Given the description of an element on the screen output the (x, y) to click on. 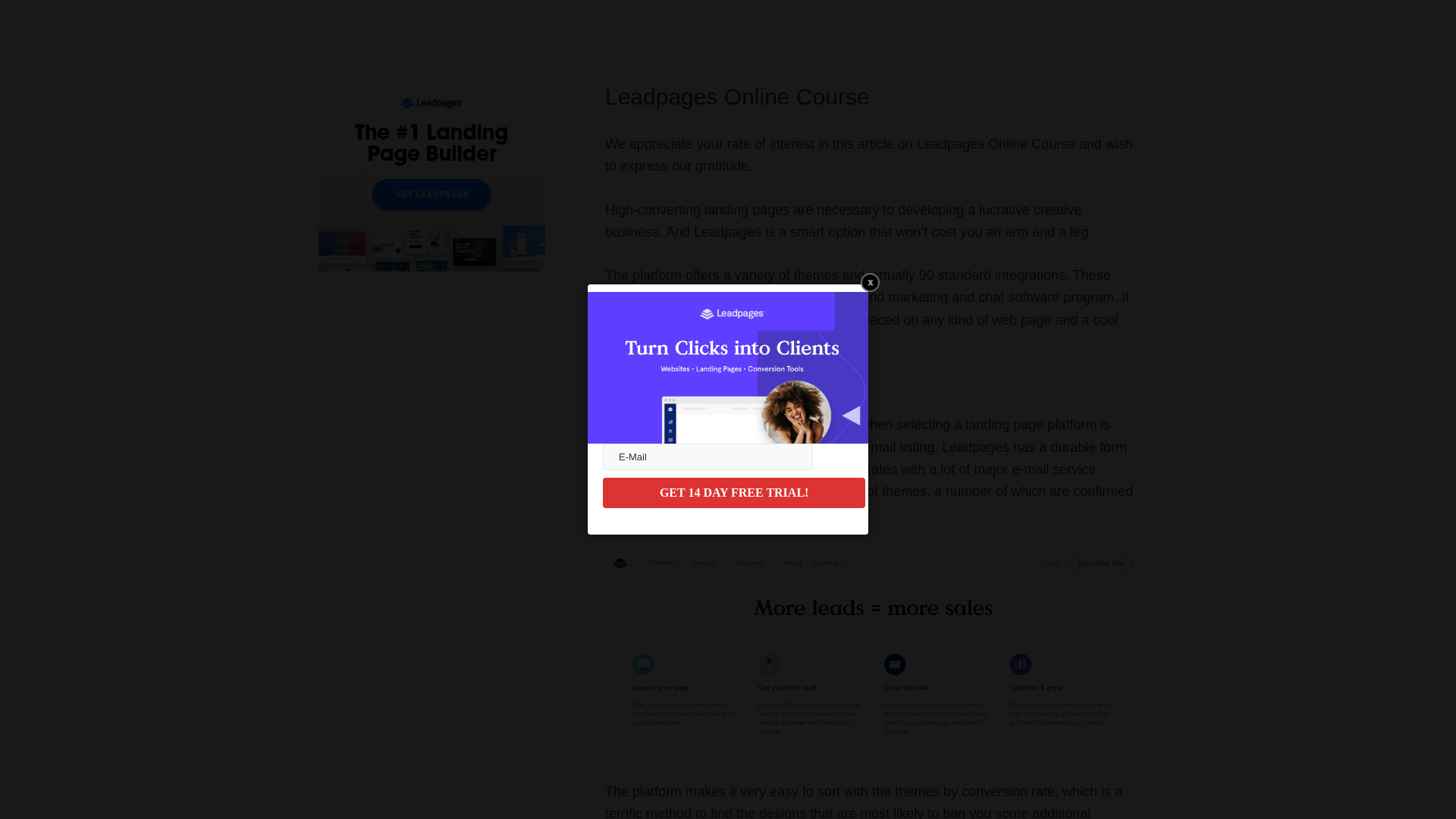
GET 14 DAY FREE TRIAL! (733, 492)
GET 14 DAY FREE TRIAL! (733, 492)
